Given the description of an element on the screen output the (x, y) to click on. 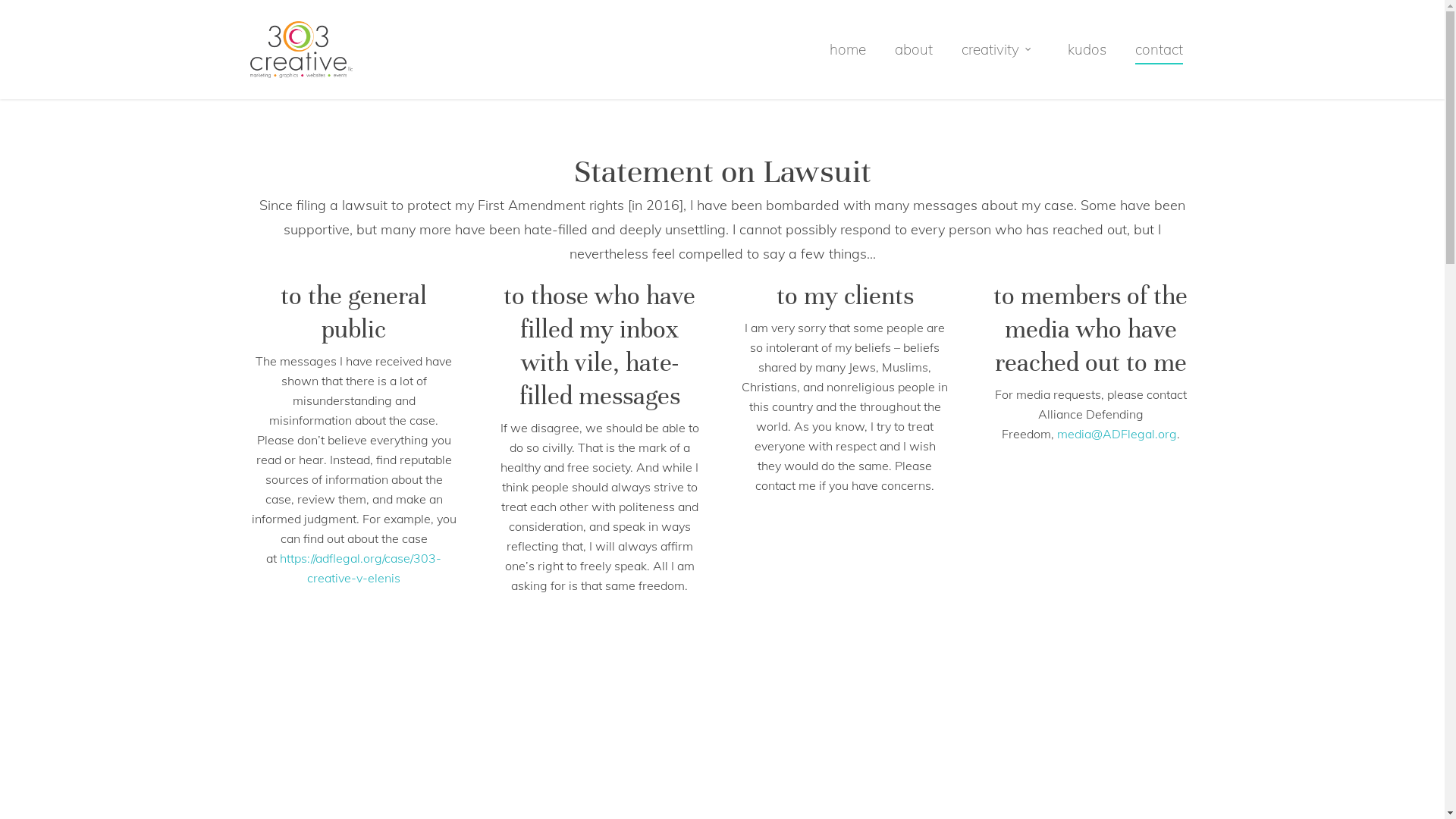
https://adflegal.org/case/303-creative-v-elenis Element type: text (360, 567)
about Element type: text (913, 60)
media@ADFlegal.org Element type: text (1116, 433)
home Element type: text (847, 60)
kudos Element type: text (1086, 60)
contact Element type: text (1159, 60)
creativity Element type: text (999, 60)
